Given the description of an element on the screen output the (x, y) to click on. 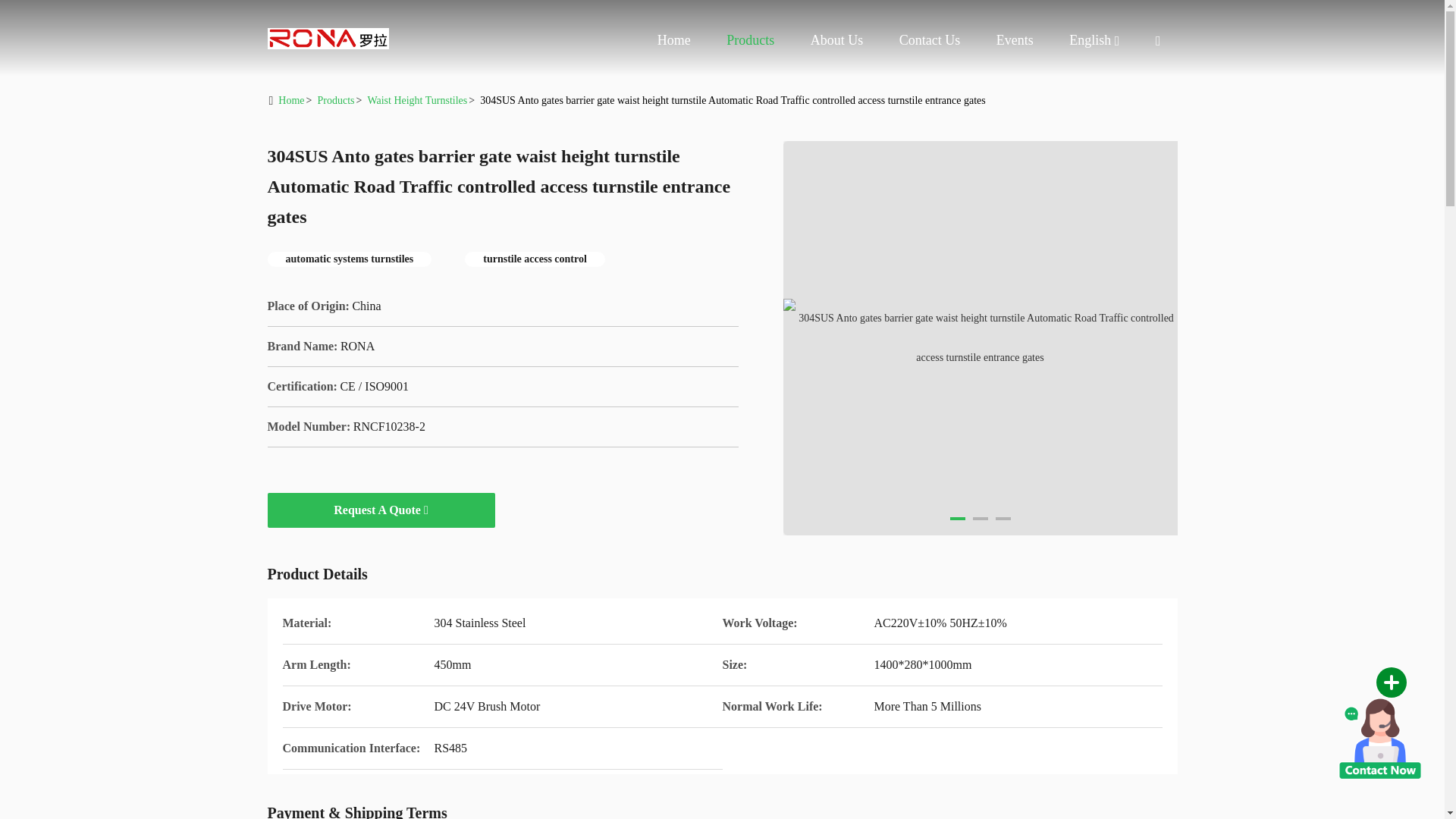
Products (750, 40)
Contact Us (929, 40)
Products (750, 40)
About Us (836, 40)
Home (327, 37)
